Given the description of an element on the screen output the (x, y) to click on. 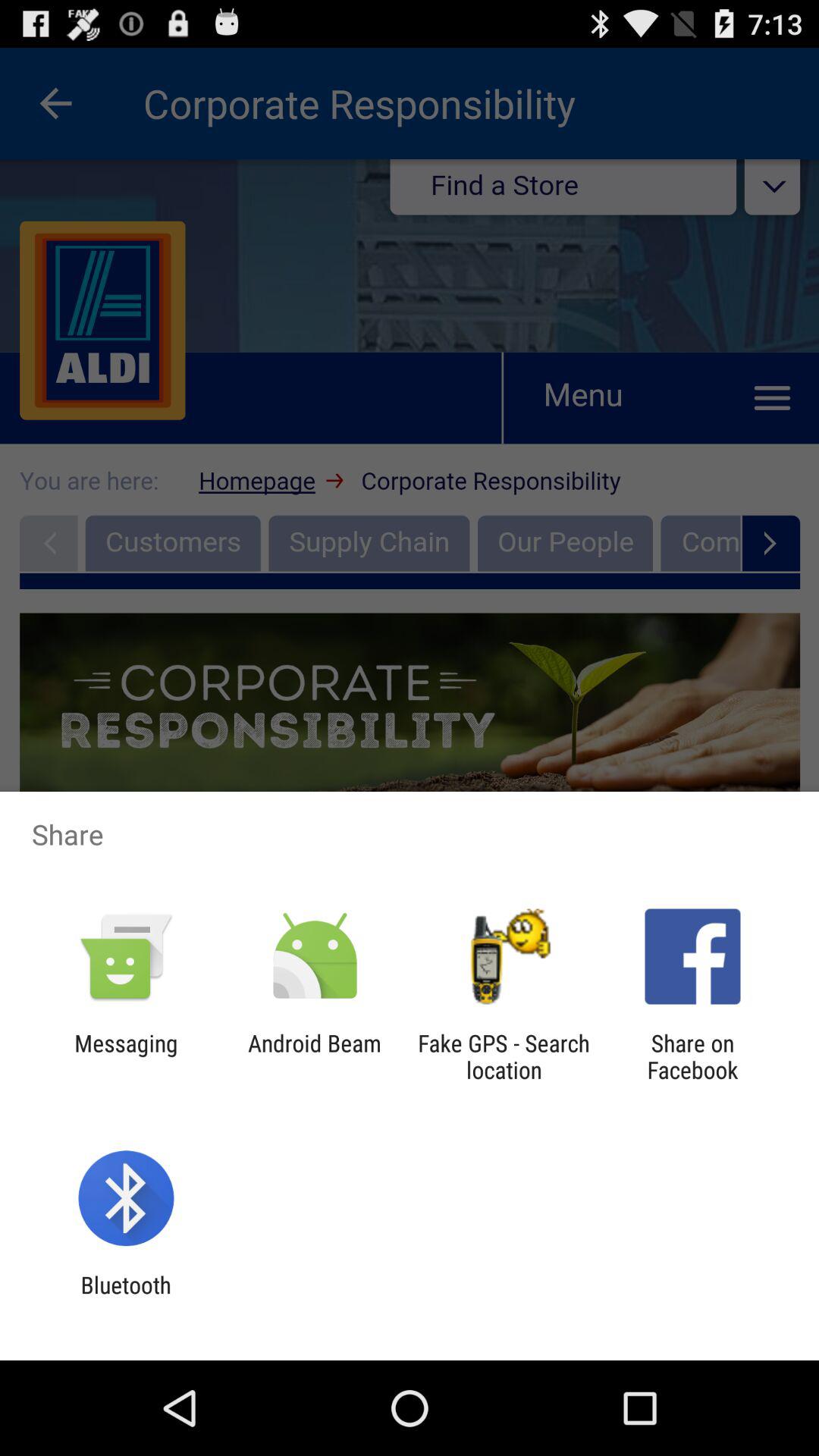
scroll to the bluetooth (125, 1298)
